Given the description of an element on the screen output the (x, y) to click on. 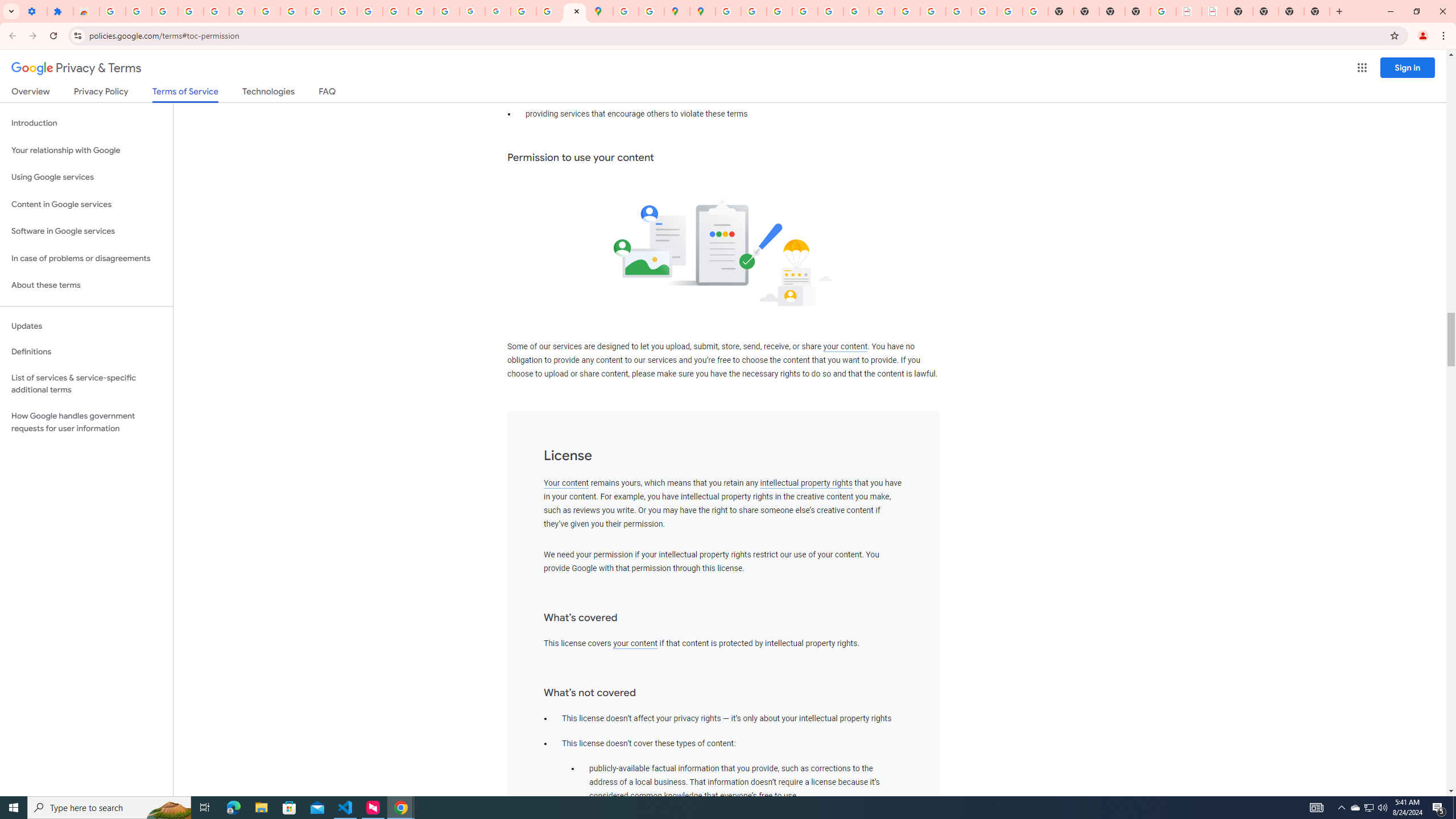
Content in Google services (86, 204)
https://scholar.google.com/ (369, 11)
your content (635, 643)
Privacy Help Center - Policies Help (779, 11)
Sign in - Google Accounts (727, 11)
YouTube (318, 11)
LAAD Defence & Security 2025 | BAE Systems (1188, 11)
